Given the description of an element on the screen output the (x, y) to click on. 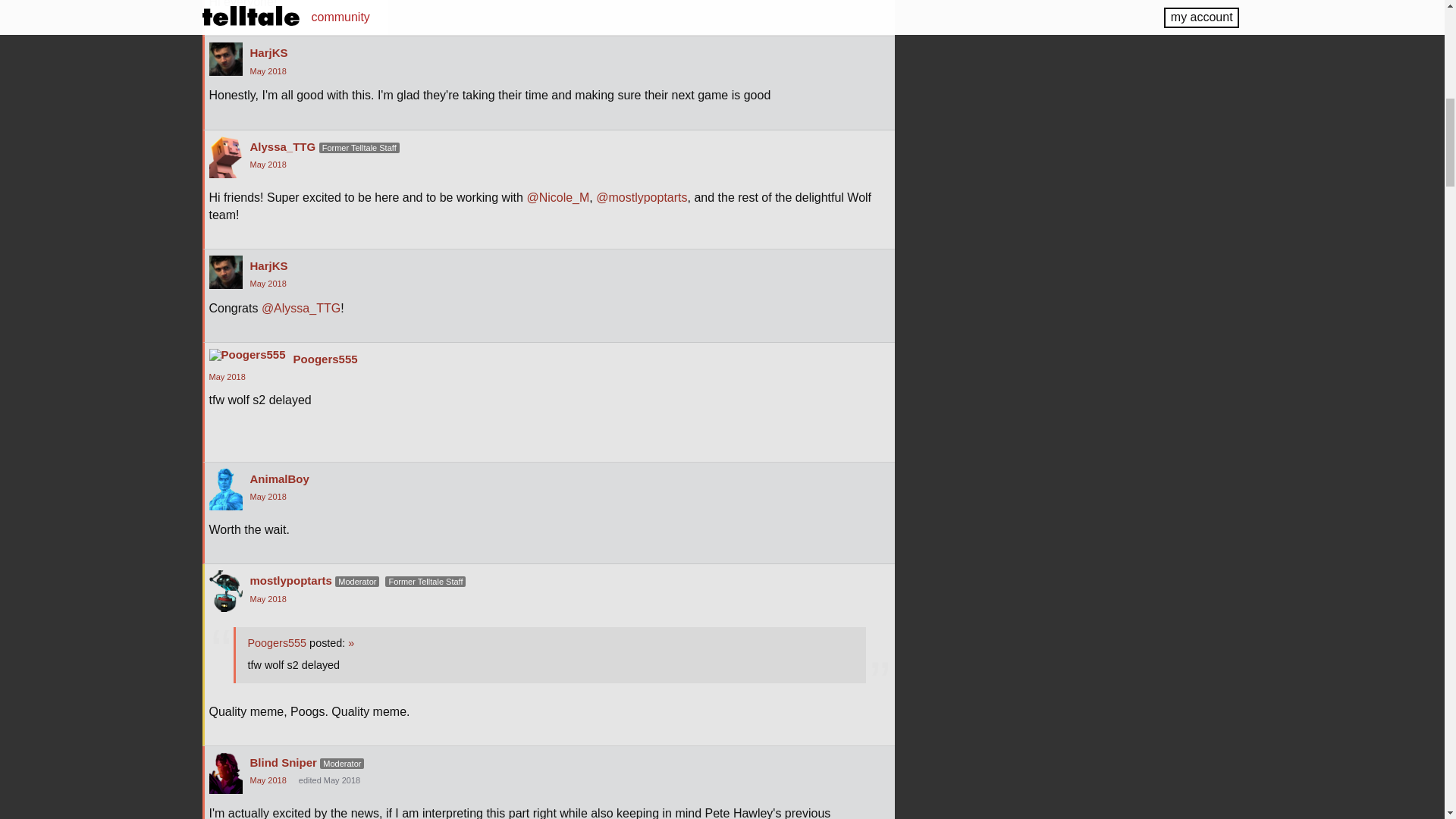
HarjKS (269, 265)
May 25, 2018 10:17AM (268, 496)
HarjKS (226, 272)
May 2018 (268, 163)
Poogers555 (247, 354)
HarjKS (226, 59)
May 2018 (268, 71)
May 25, 2018 10:16AM (227, 376)
HarjKS (269, 51)
May 25, 2018 10:11AM (268, 71)
May 2018 (268, 283)
May 25, 2018 10:12AM (268, 283)
May 25, 2018 10:12AM (268, 163)
